Given the description of an element on the screen output the (x, y) to click on. 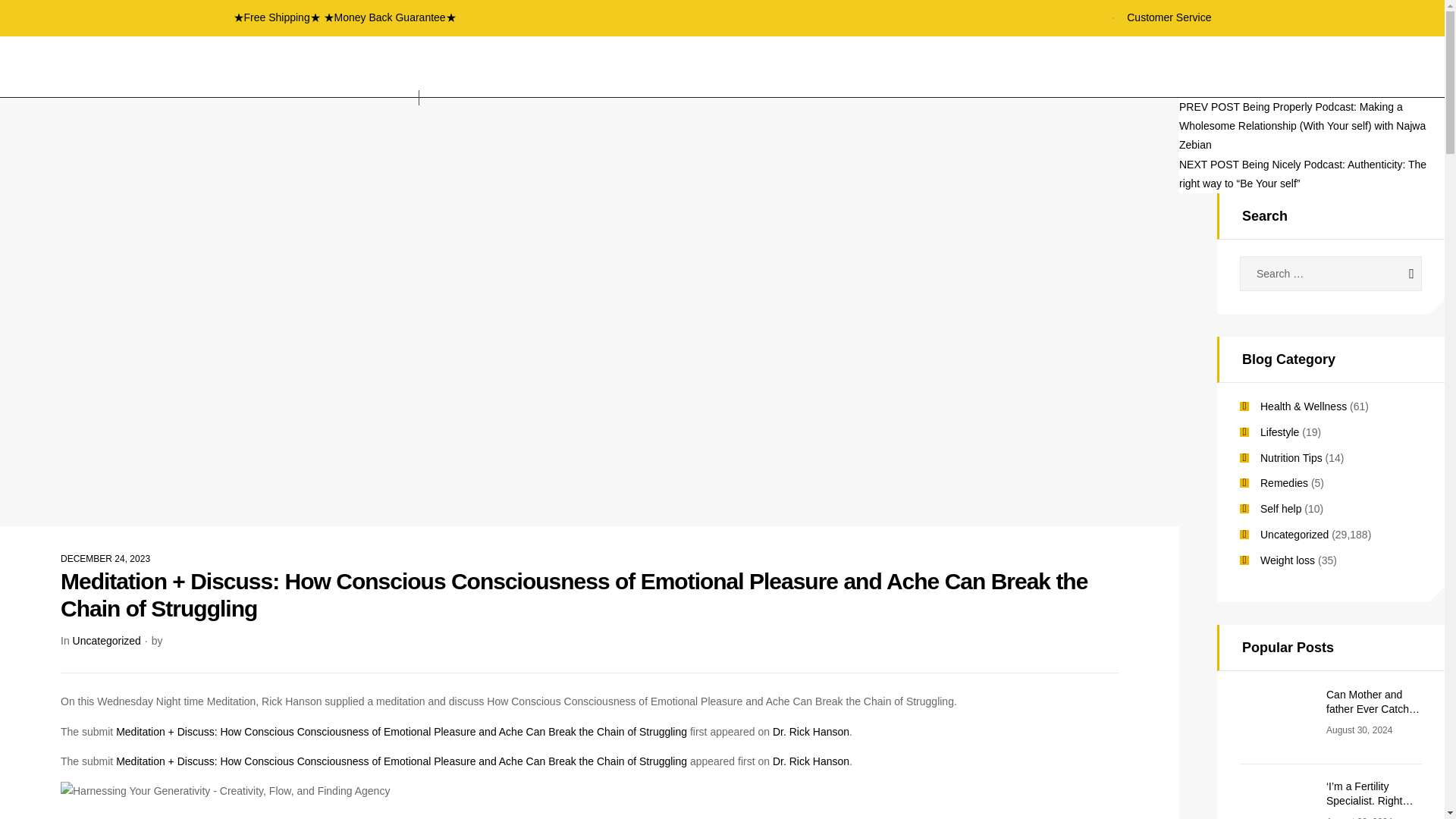
Search (1396, 273)
DECEMBER 24, 2023 (105, 558)
Uncategorized (106, 640)
Dr. Rick Hanson (810, 731)
Dr. Rick Hanson (810, 761)
Customer Service (1160, 17)
Search (1396, 273)
